Given the description of an element on the screen output the (x, y) to click on. 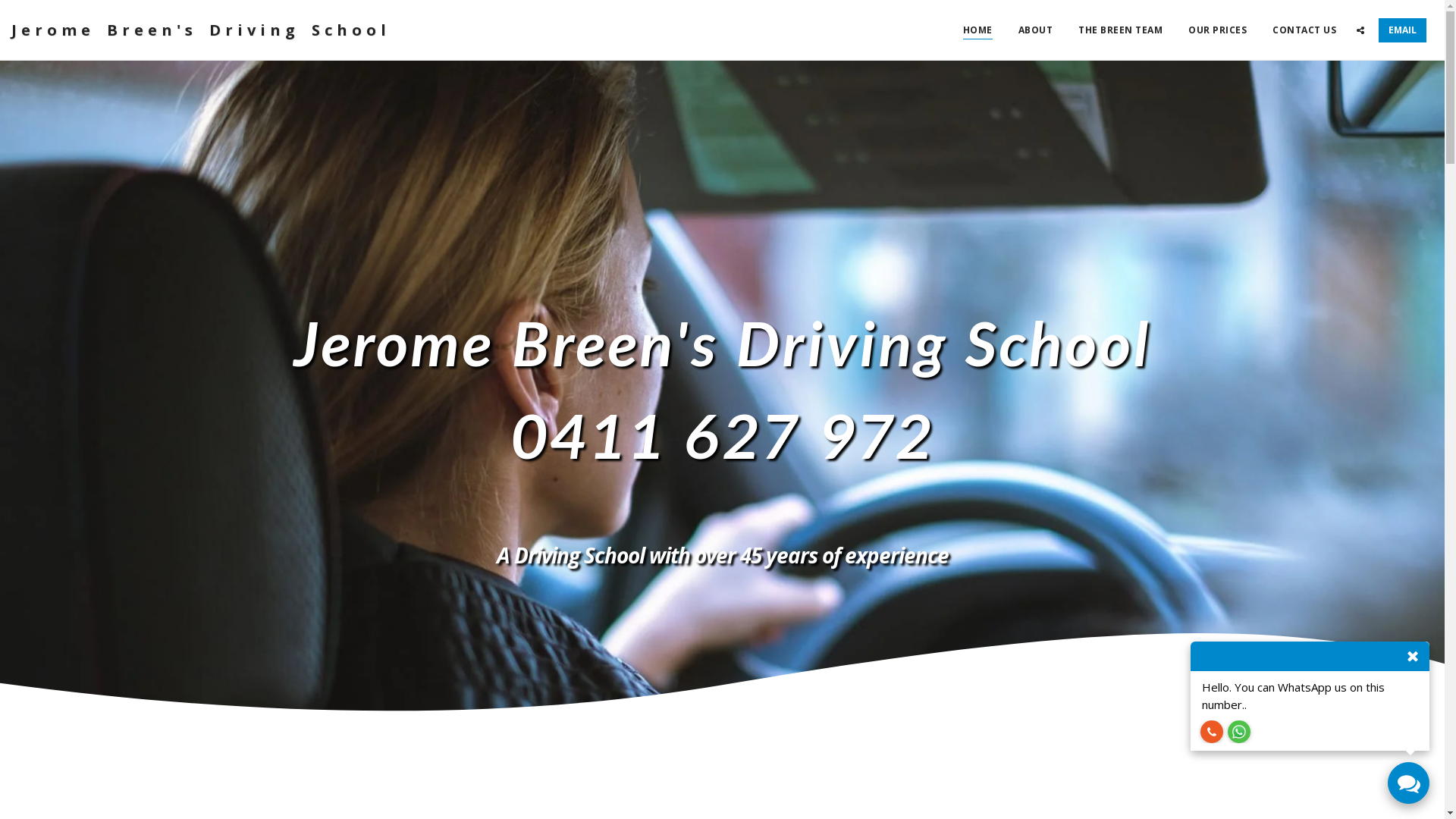
  Element type: text (1211, 731)
  Element type: text (1360, 29)
CONTACT US Element type: text (1304, 29)
Jerome Breen's Driving School Element type: text (200, 30)
OUR PRICES Element type: text (1217, 29)
EMAIL Element type: text (1402, 29)
THE BREEN TEAM Element type: text (1120, 29)
ABOUT Element type: text (1034, 29)
  Element type: text (1408, 782)
EMAIL Element type: text (1402, 30)
HOME Element type: text (977, 29)
